Given the description of an element on the screen output the (x, y) to click on. 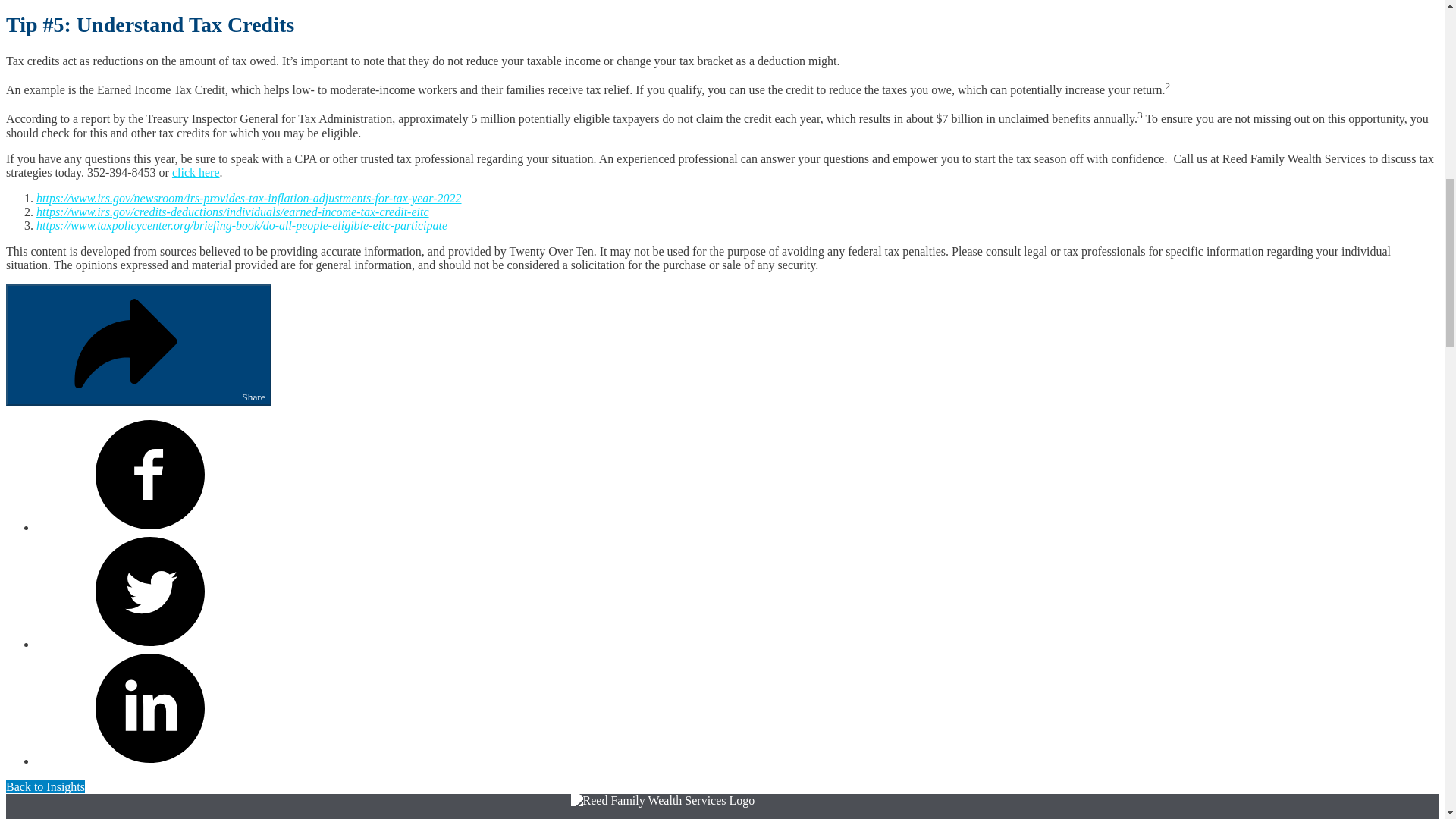
Back to Insights (44, 786)
Share Icon Share (137, 344)
Share on Twitter (149, 591)
Share on Facebook (149, 526)
Share Icon (125, 343)
Share on Twitter (149, 644)
Share on Facebook (149, 474)
click here (195, 172)
Share on Linkedin (149, 760)
Share on Linkedin (149, 707)
